Given the description of an element on the screen output the (x, y) to click on. 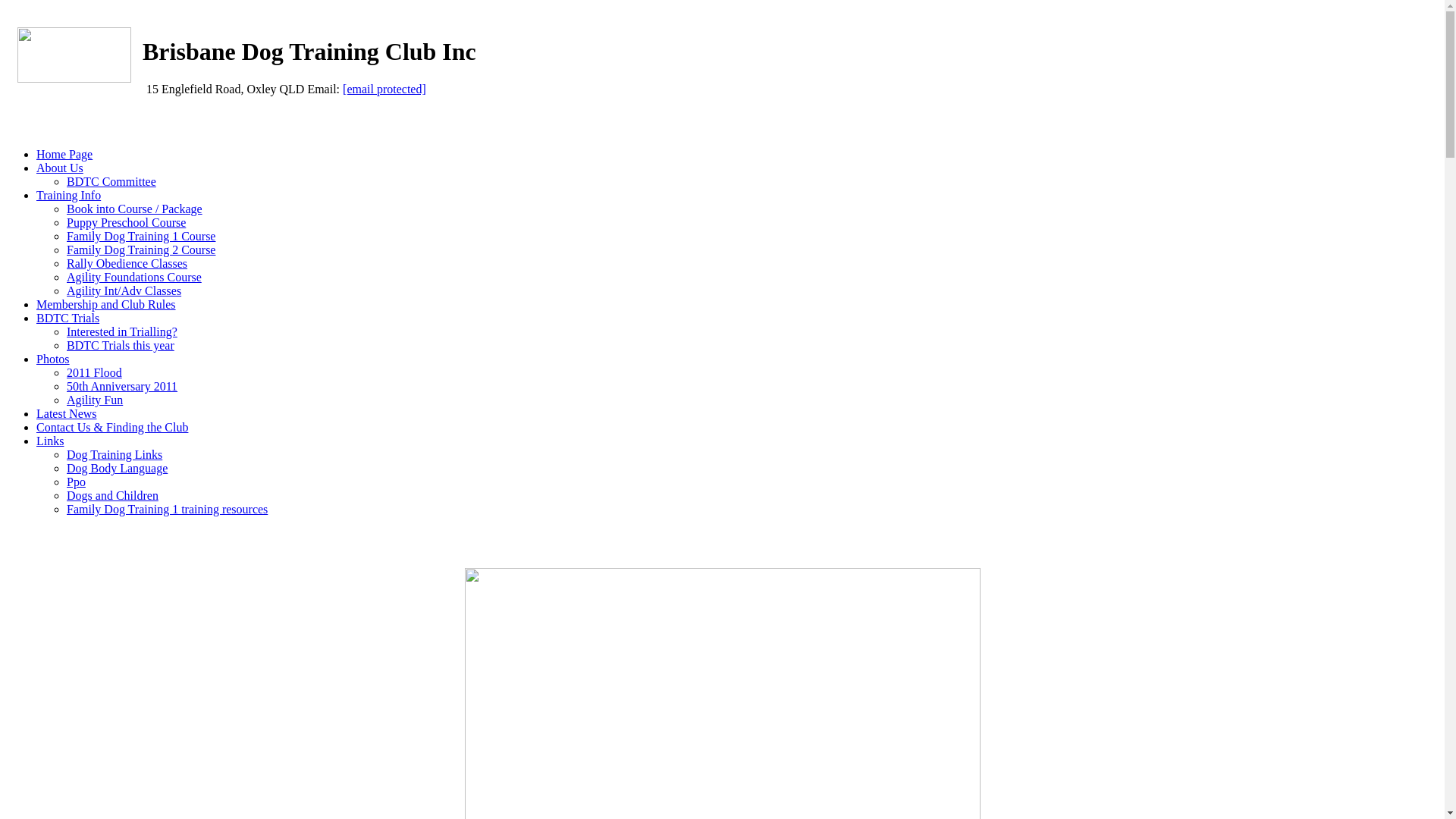
Family Dog Training 2 Course Element type: text (140, 249)
[email protected] Element type: text (384, 88)
Photos Element type: text (52, 358)
Interested in Trialling? Element type: text (121, 331)
Agility Fun Element type: text (94, 399)
Dog Training Links Element type: text (114, 454)
Training Info Element type: text (68, 194)
Agility Foundations Course Element type: text (133, 276)
Agility Int/Adv Classes Element type: text (123, 290)
2011 Flood Element type: text (94, 372)
Book into Course / Package Element type: text (134, 208)
Dog Body Language Element type: text (116, 467)
Puppy Preschool Course Element type: text (125, 222)
Links Element type: text (49, 440)
Contact Us & Finding the Club Element type: text (112, 426)
Membership and Club Rules Element type: text (105, 304)
About Us Element type: text (59, 167)
Family Dog Training 1 training resources Element type: text (166, 508)
Latest News Element type: text (66, 413)
BDTC Committee Element type: text (111, 181)
Home Page Element type: text (64, 153)
Ppo Element type: text (75, 481)
Dogs and Children Element type: text (112, 495)
Family Dog Training 1 Course Element type: text (140, 235)
Rally Obedience Classes Element type: text (126, 263)
BDTC Trials Element type: text (67, 317)
50th Anniversary 2011 Element type: text (121, 385)
BDTC Trials this year Element type: text (120, 344)
